Given the description of an element on the screen output the (x, y) to click on. 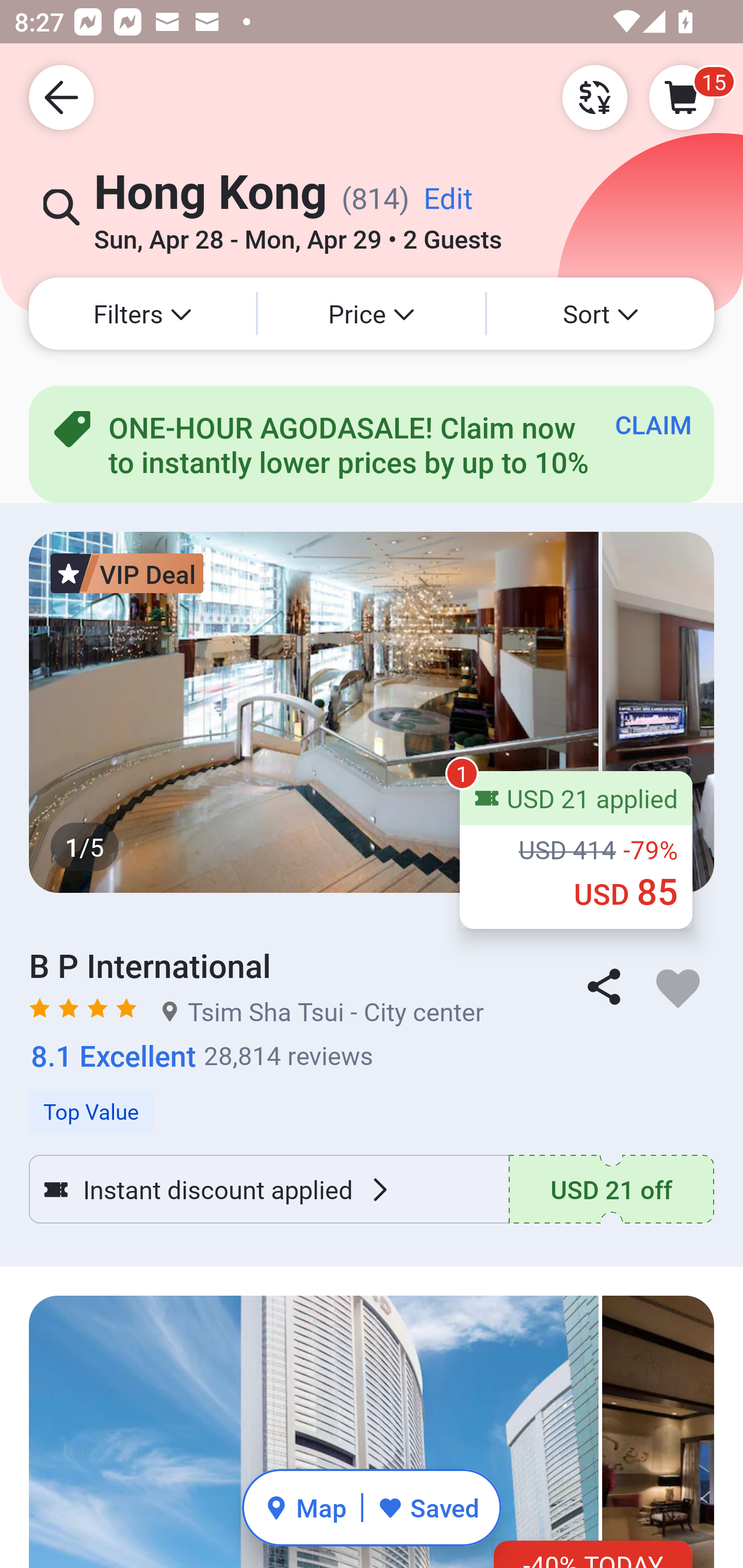
Filters (141, 313)
Price (371, 313)
Sort (600, 313)
CLAIM (653, 424)
VIP Deal (126, 572)
1/5 (371, 711)
USD 21 applied ‪USD 414 -79% ‪USD 85 1 (575, 849)
Top Value (371, 1100)
Instant discount applied USD 21 off (371, 1189)
Map (305, 1507)
Saved (428, 1507)
